Given the description of an element on the screen output the (x, y) to click on. 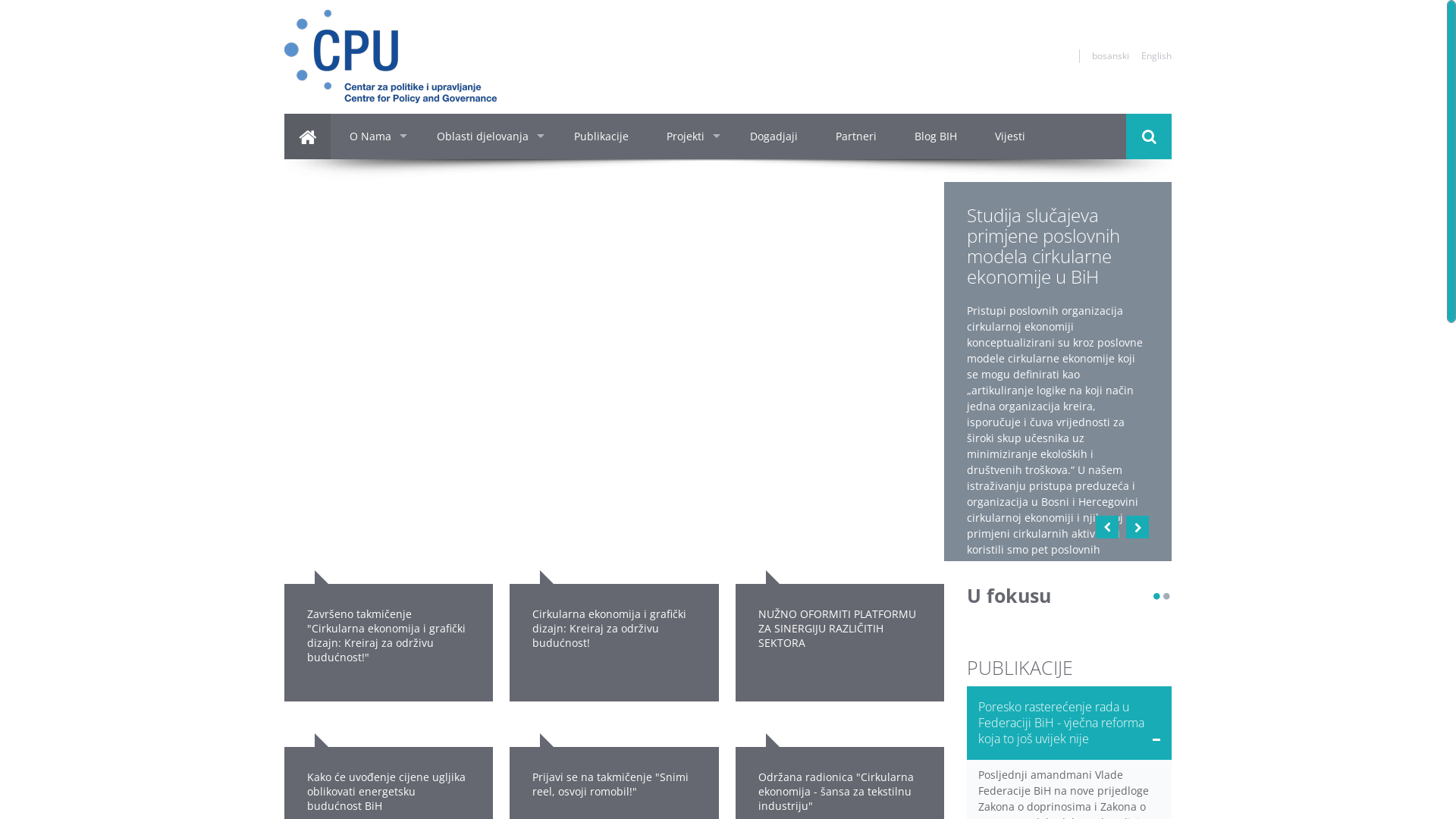
Blog BIH Element type: text (935, 136)
English Element type: text (1156, 54)
Partneri Element type: text (855, 136)
bosanski Element type: text (1110, 54)
Vijesti Element type: text (1009, 136)
Publikacije Element type: text (601, 136)
Dogadjaji Element type: text (773, 136)
Oblasti djelovanja Element type: text (486, 136)
O Nama Element type: text (373, 136)
Projekti Element type: text (689, 136)
